Given the description of an element on the screen output the (x, y) to click on. 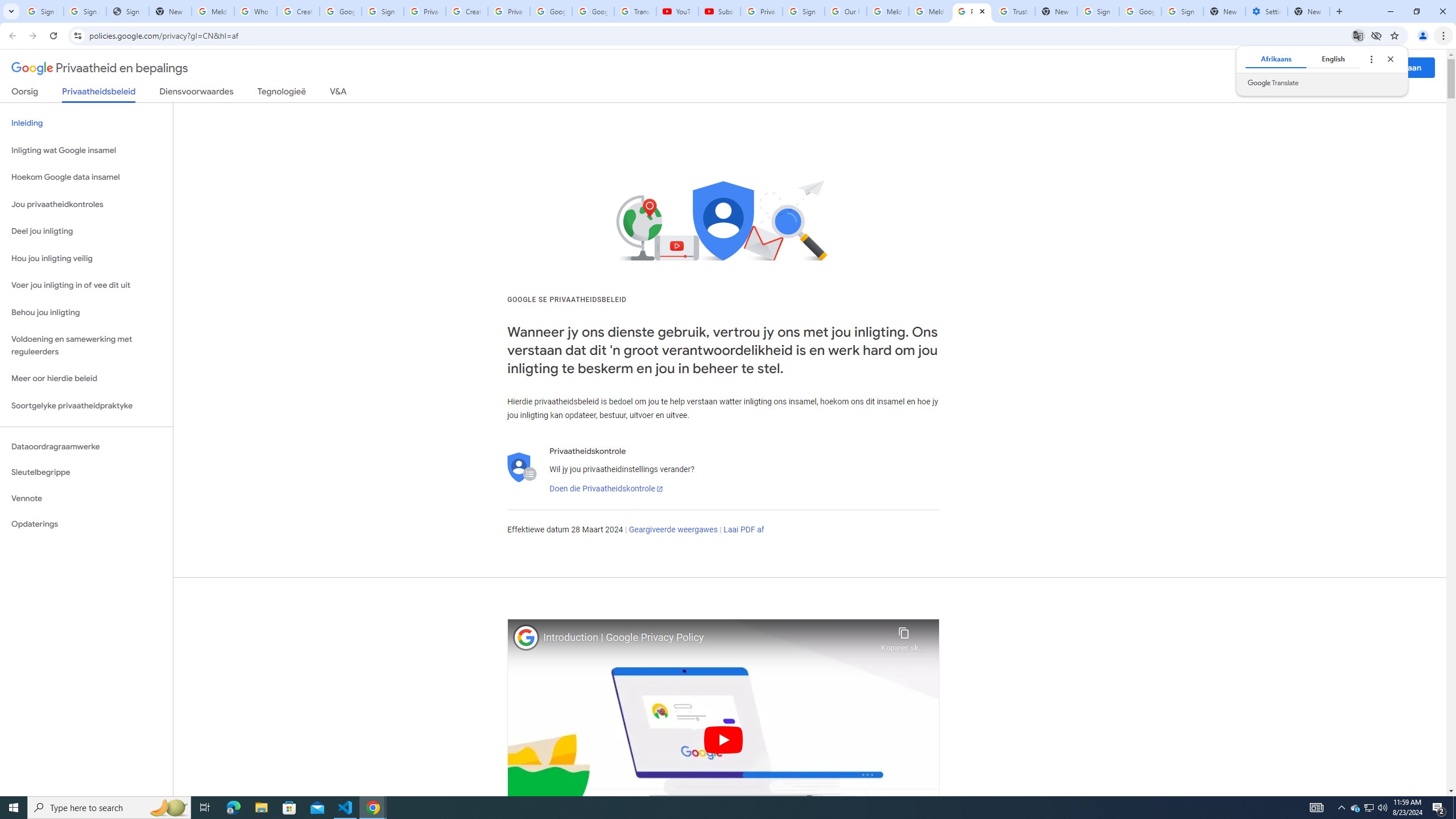
Speel (723, 739)
Diensvoorwaardes (196, 93)
Soortgelyke privaatheidpraktyke (86, 405)
Sign in - Google Accounts (1097, 11)
Settings - Addresses and more (1266, 11)
Privaatheid en bepalings (99, 68)
Hou jou inligting veilig (86, 258)
Translate options (1370, 58)
Behou jou inligting (86, 312)
